Given the description of an element on the screen output the (x, y) to click on. 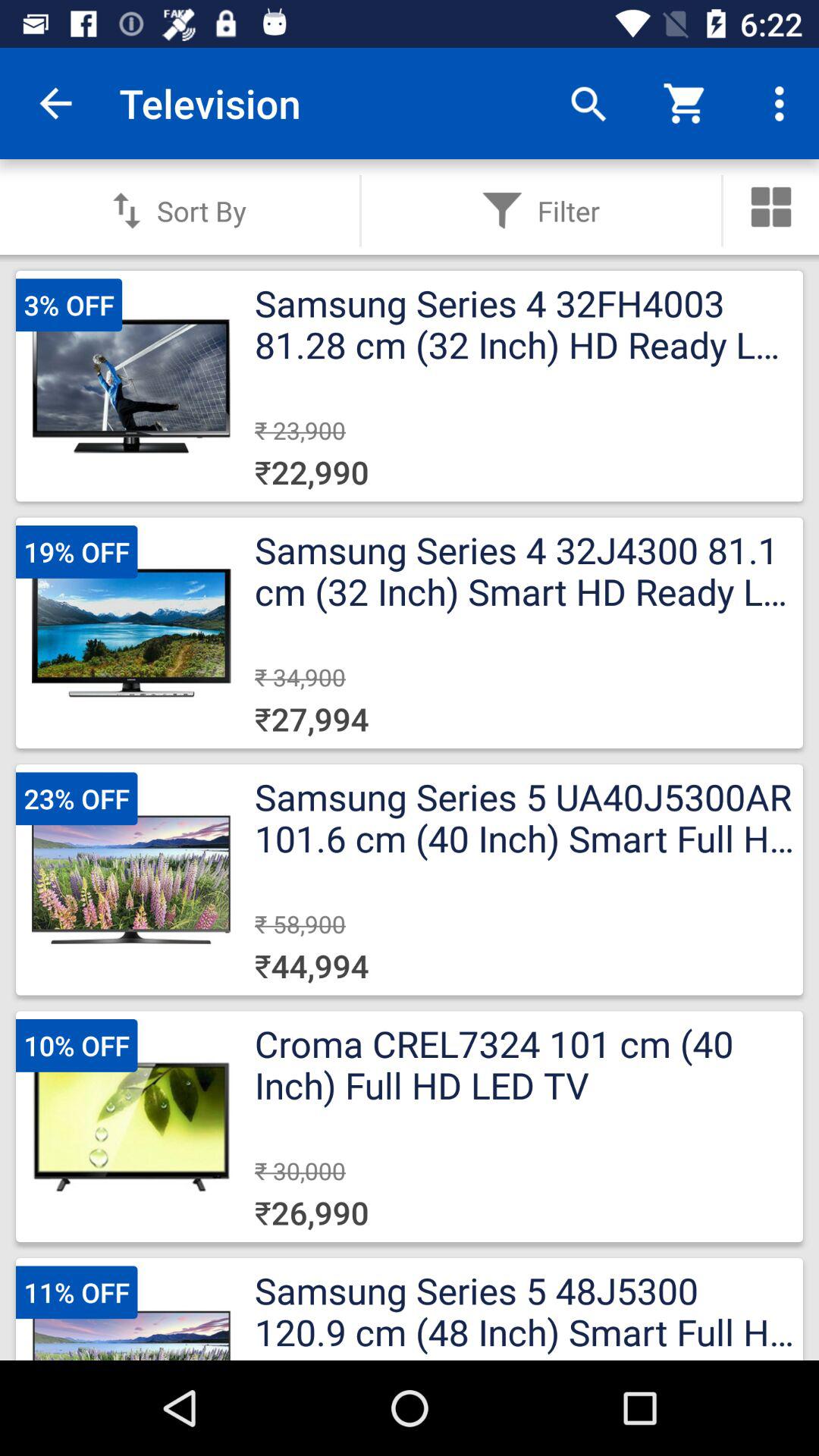
select the item above the sort by item (55, 103)
